Given the description of an element on the screen output the (x, y) to click on. 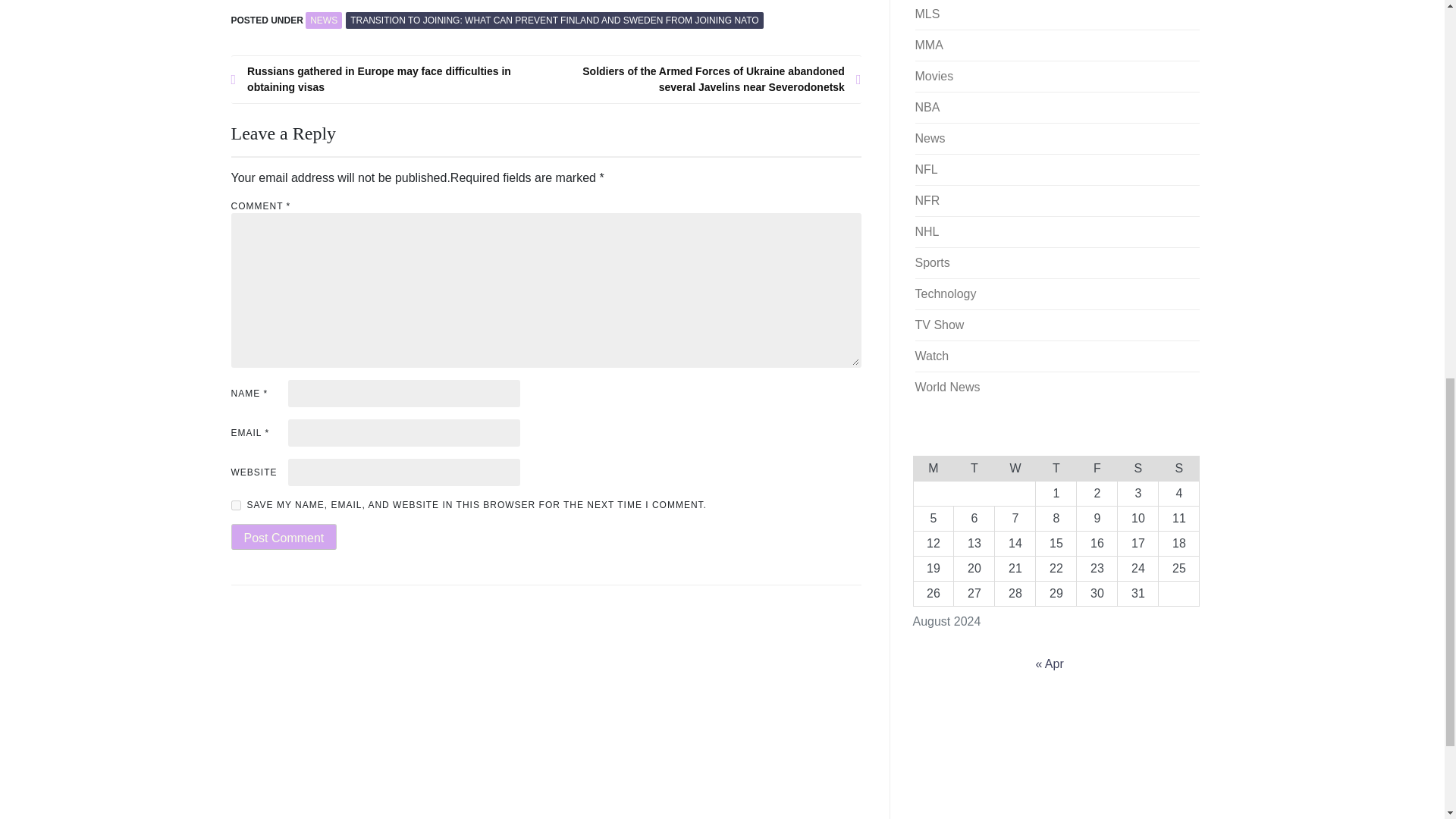
Sunday (1178, 467)
Friday (1097, 467)
yes (235, 505)
NEWS (323, 20)
Post Comment (283, 536)
Wednesday (1014, 467)
Monday (932, 467)
Saturday (1138, 467)
Thursday (1056, 467)
Tuesday (973, 467)
